Given the description of an element on the screen output the (x, y) to click on. 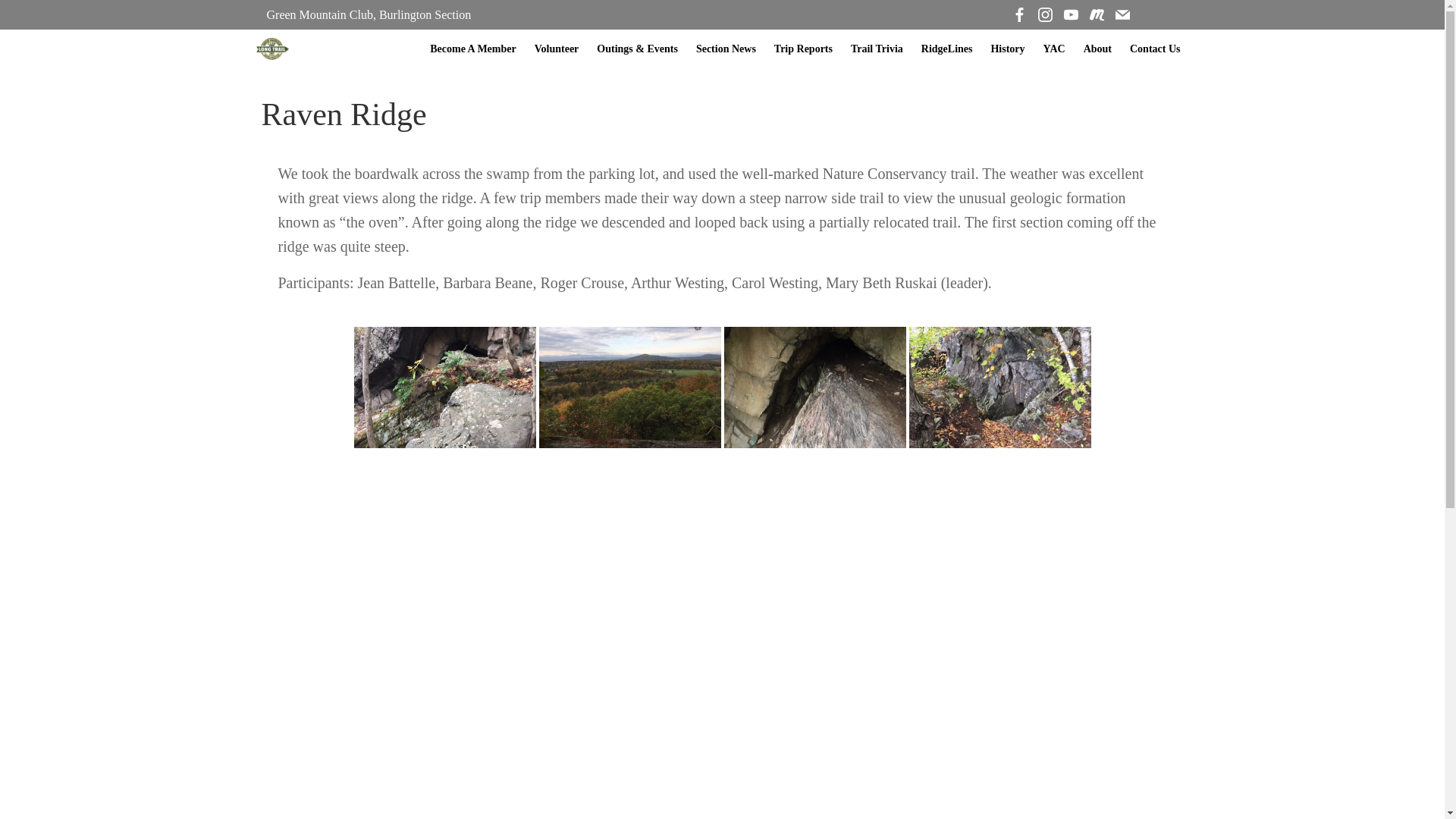
EXECUTIVE TEAM (817, 552)
Contact Us (1154, 48)
YAC (1054, 48)
HISTORY (306, 583)
CONTACT US (1005, 552)
About (1097, 48)
RidgeLines (946, 48)
Volunteer (556, 48)
Section News (725, 48)
ABOUT (301, 552)
